Given the description of an element on the screen output the (x, y) to click on. 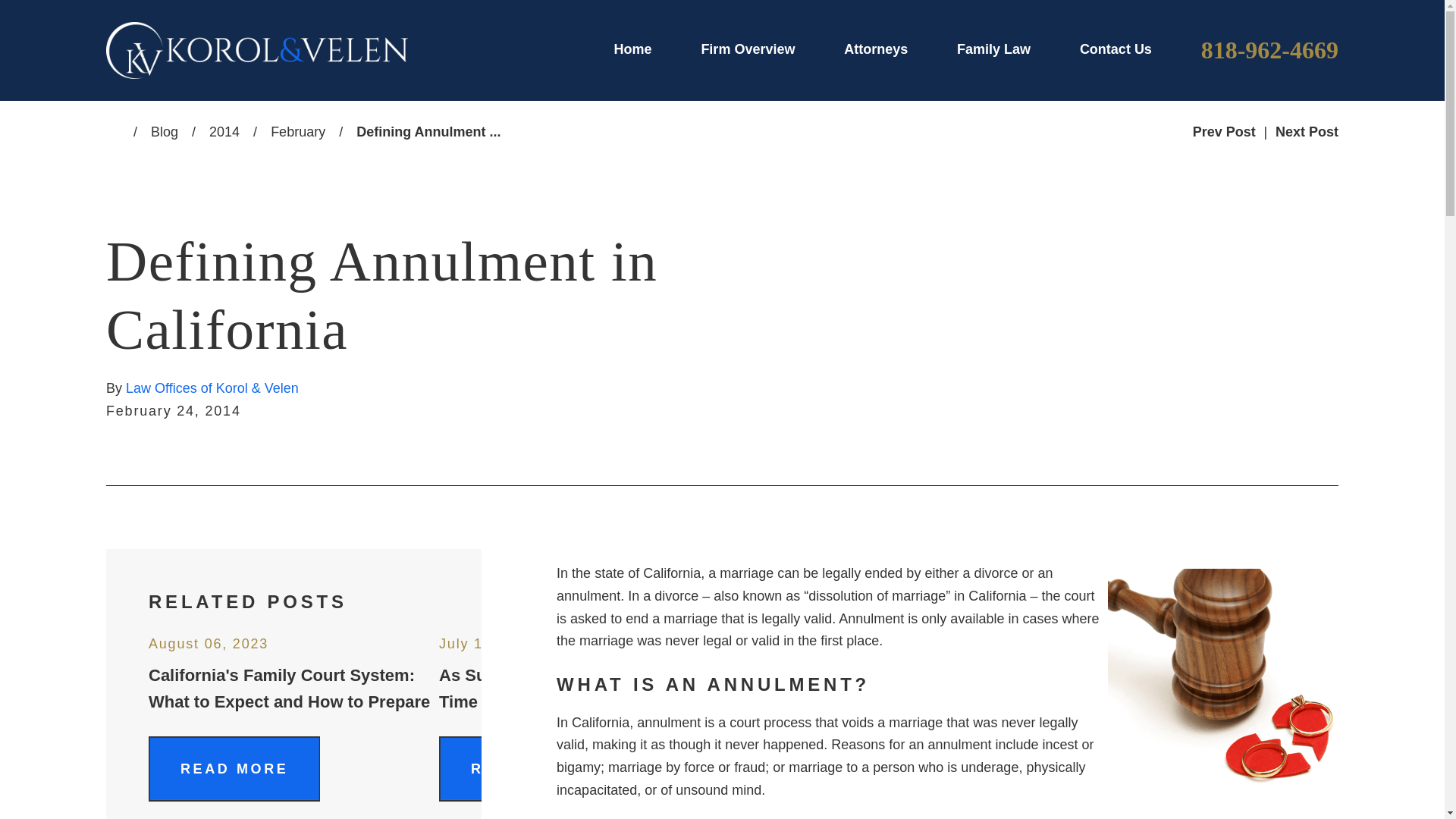
Firm Overview (747, 49)
818-962-4669 (1269, 49)
2014 (224, 132)
Blog (164, 132)
Family Law (993, 49)
Open the accessibility options menu (31, 786)
Home (633, 49)
annulment (1221, 682)
Contact Us (1115, 49)
Go Home (119, 132)
